Given the description of an element on the screen output the (x, y) to click on. 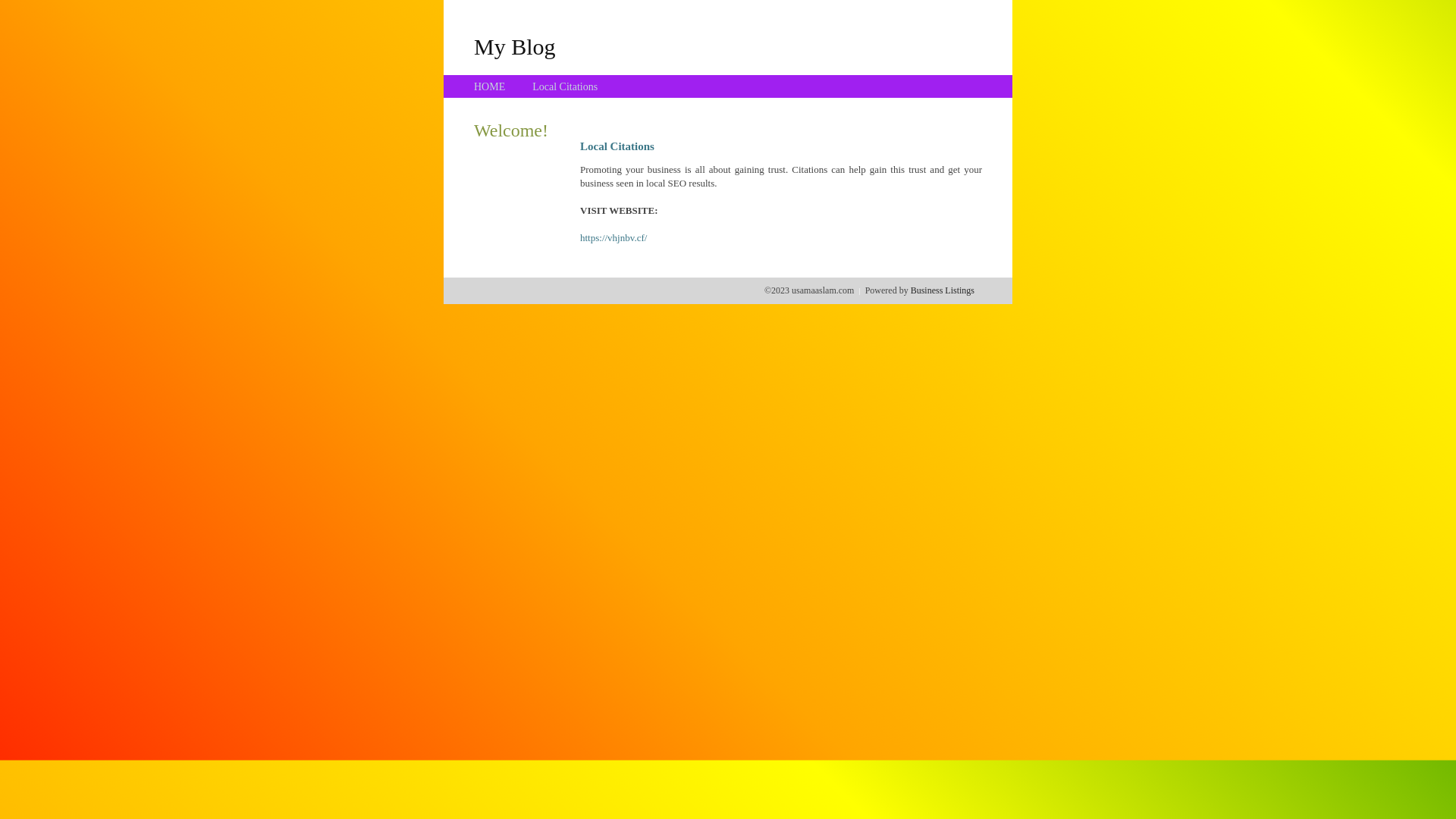
Business Listings Element type: text (942, 290)
https://vhjnbv.cf/ Element type: text (613, 237)
HOME Element type: text (489, 86)
My Blog Element type: text (514, 46)
Local Citations Element type: text (564, 86)
